Given the description of an element on the screen output the (x, y) to click on. 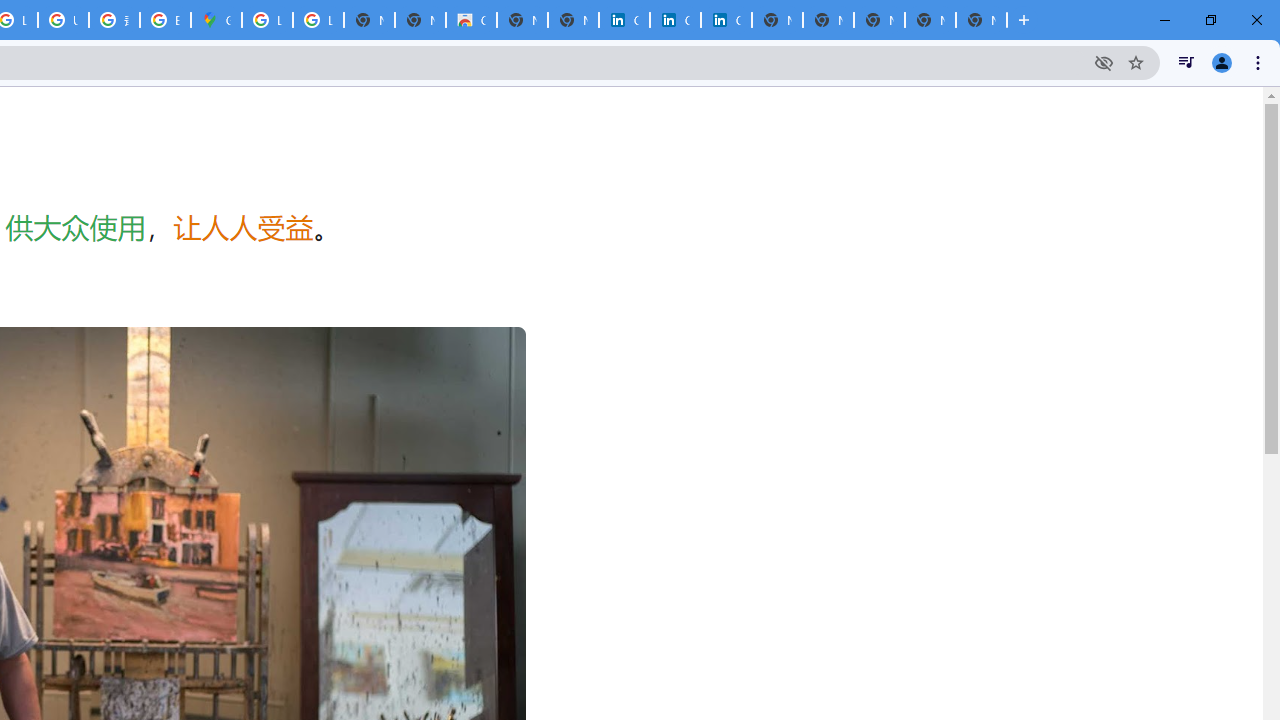
New Tab (981, 20)
Cookie Policy | LinkedIn (624, 20)
Copyright Policy (726, 20)
